Given the description of an element on the screen output the (x, y) to click on. 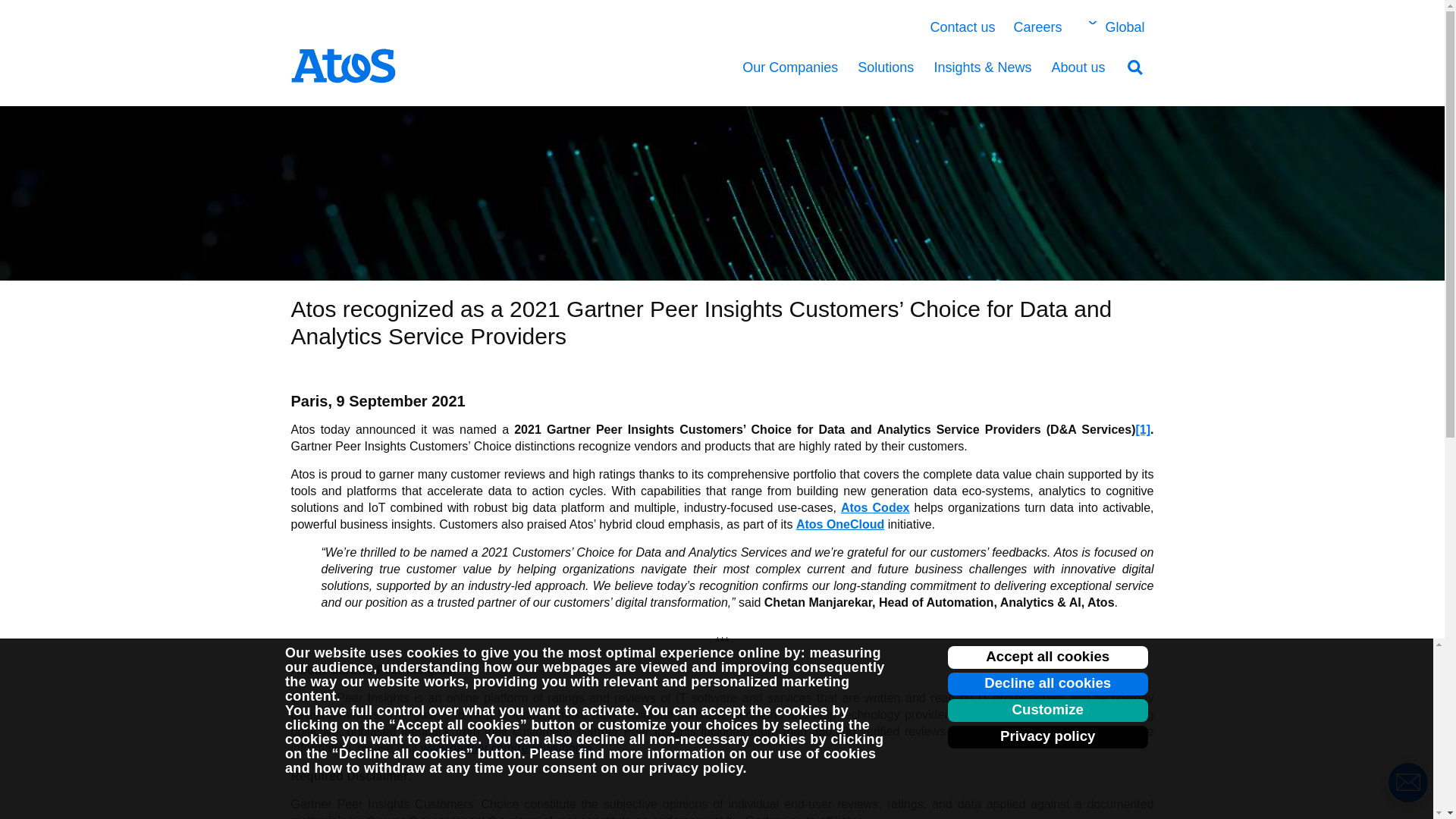
Accept all cookies (1047, 657)
Careers (1037, 27)
Decline all cookies (1047, 683)
cookies (433, 652)
Contact us (962, 27)
privacy policy (695, 767)
Global (1112, 27)
Customize (1047, 710)
Privacy policy (1047, 736)
